Given the description of an element on the screen output the (x, y) to click on. 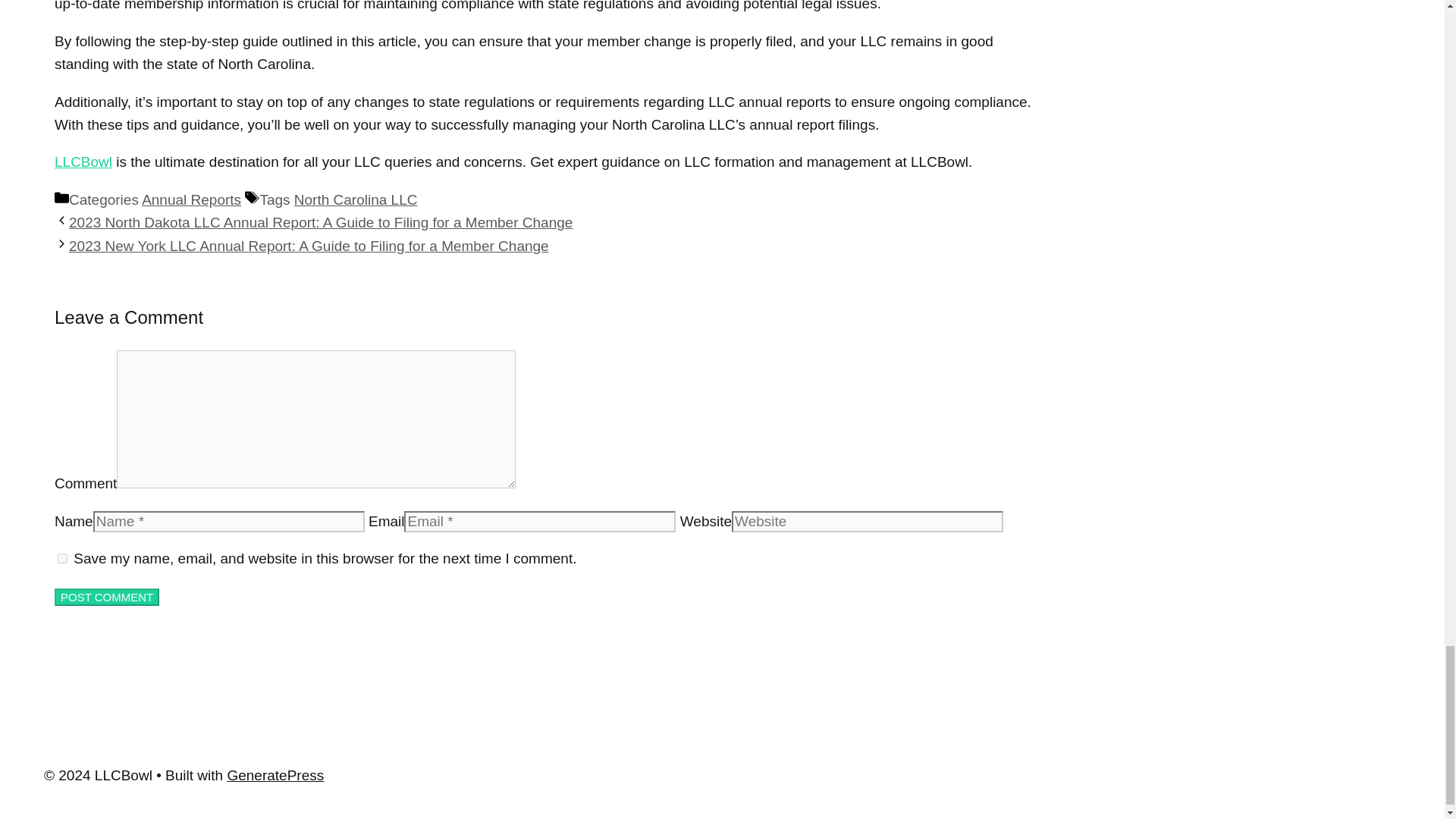
GeneratePress (275, 774)
North Carolina LLC (355, 199)
yes (62, 558)
LLCBowl (83, 161)
Post Comment (106, 597)
LLCBowl (83, 161)
Annual Reports (191, 199)
Post Comment (106, 597)
